Given the description of an element on the screen output the (x, y) to click on. 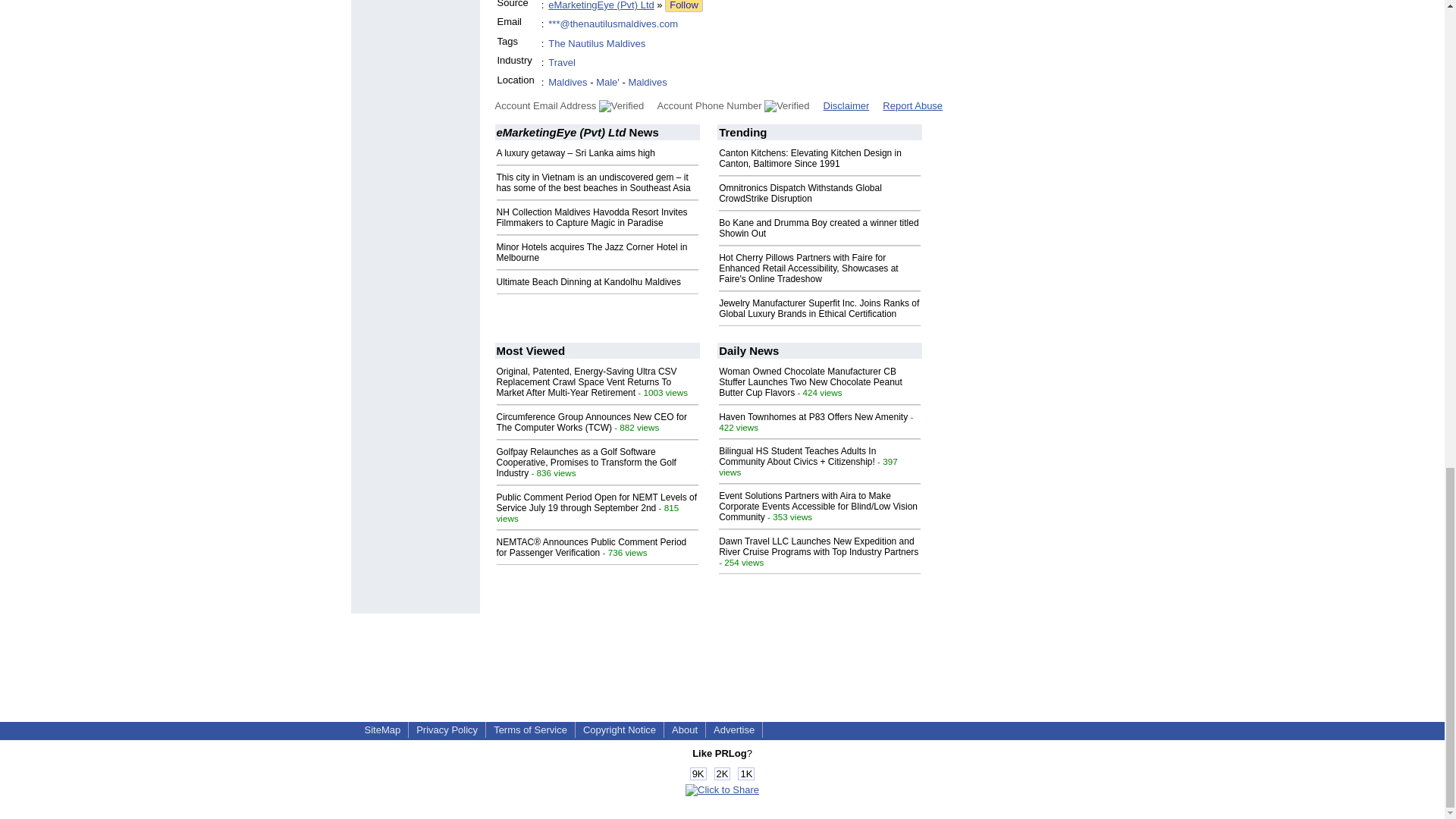
Share this page! (721, 789)
Verified (620, 105)
Verified (786, 105)
